Given the description of an element on the screen output the (x, y) to click on. 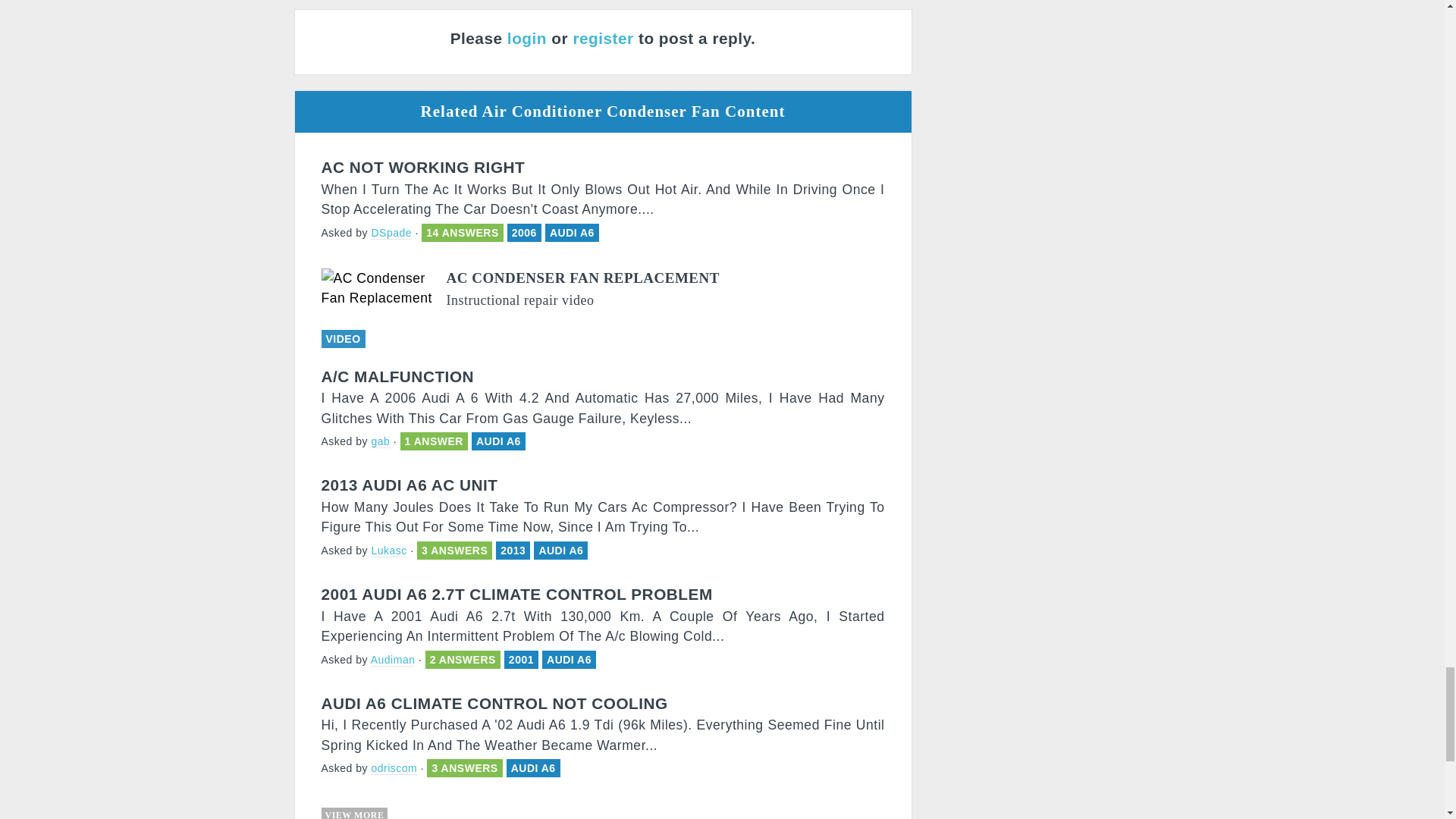
login (526, 37)
DSpade (391, 232)
AUDI A6 (572, 232)
register (602, 37)
